Given the description of an element on the screen output the (x, y) to click on. 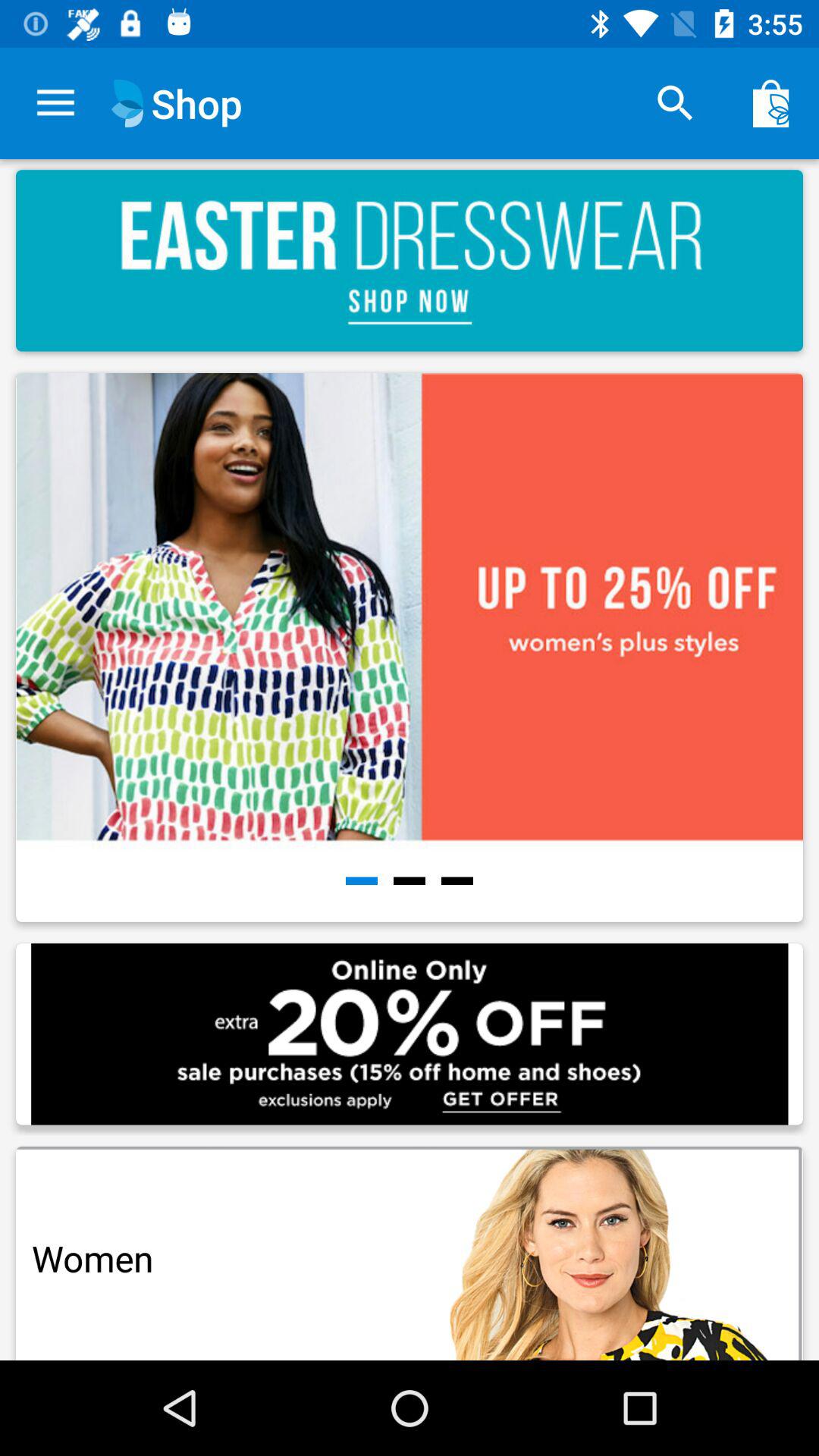
open app to the right of the shop (675, 103)
